Given the description of an element on the screen output the (x, y) to click on. 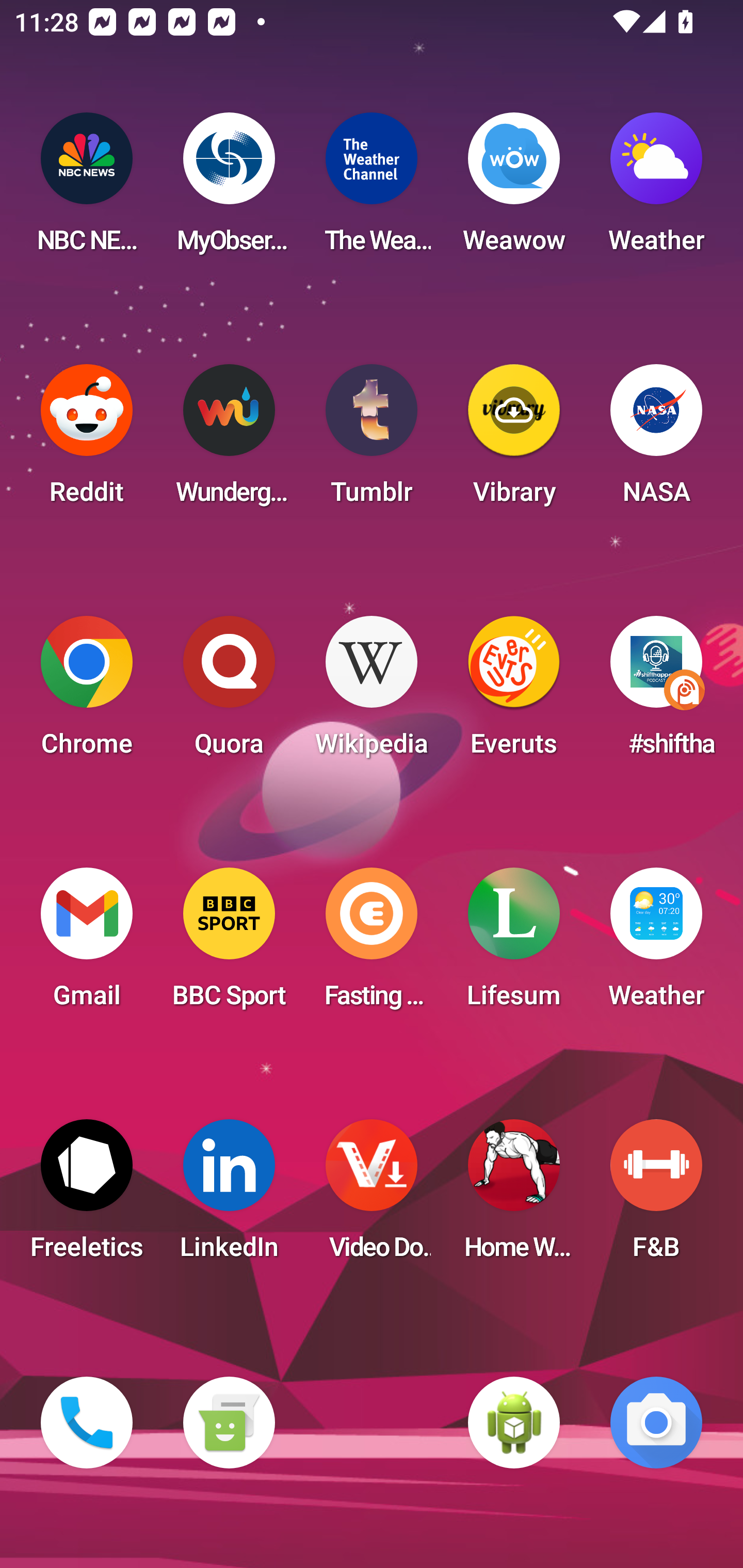
NBC NEWS (86, 188)
MyObservatory (228, 188)
The Weather Channel (371, 188)
Weawow (513, 188)
Weather (656, 188)
Reddit (86, 440)
Wunderground (228, 440)
Tumblr (371, 440)
Vibrary (513, 440)
NASA (656, 440)
Chrome (86, 692)
Quora (228, 692)
Wikipedia (371, 692)
Everuts (513, 692)
#shifthappens in the Digital Workplace Podcast (656, 692)
Gmail (86, 943)
BBC Sport (228, 943)
Fasting Coach (371, 943)
Lifesum (513, 943)
Weather (656, 943)
Freeletics (86, 1195)
LinkedIn (228, 1195)
Video Downloader & Ace Player (371, 1195)
Home Workout (513, 1195)
F&B (656, 1195)
Phone (86, 1422)
Messaging (228, 1422)
WebView Browser Tester (513, 1422)
Camera (656, 1422)
